Given the description of an element on the screen output the (x, y) to click on. 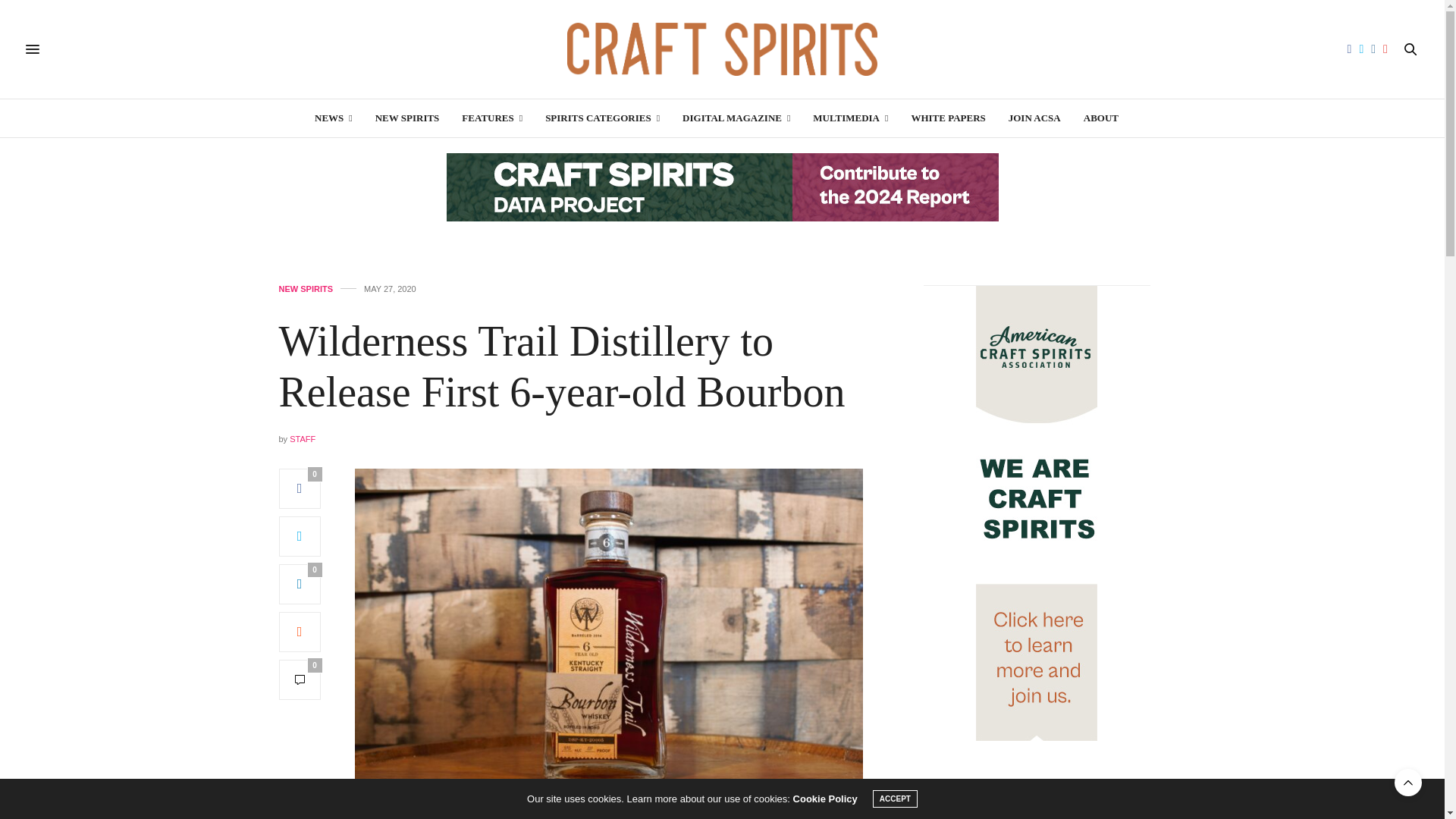
Scroll To Top (1408, 782)
Posts by Staff (302, 438)
Craft Spirits Magazine (722, 49)
